Given the description of an element on the screen output the (x, y) to click on. 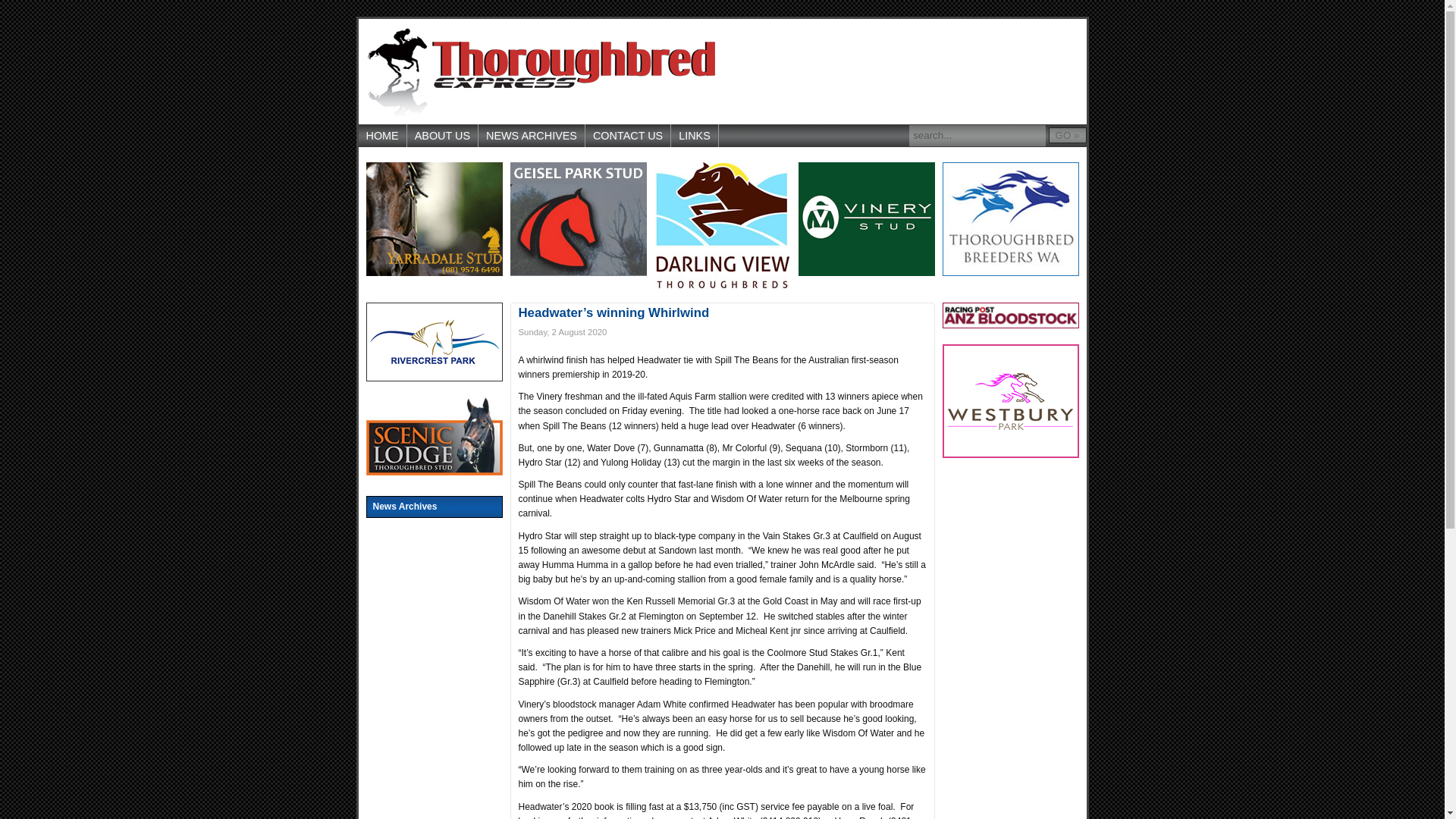
HOME (382, 135)
LINKS (695, 135)
ABOUT US (443, 135)
search... (976, 135)
CONTACT US (628, 135)
Thoroughbred Express (540, 71)
NEWS ARCHIVES (532, 135)
News Archives (433, 506)
Thoroughbred Express (540, 71)
